Given the description of an element on the screen output the (x, y) to click on. 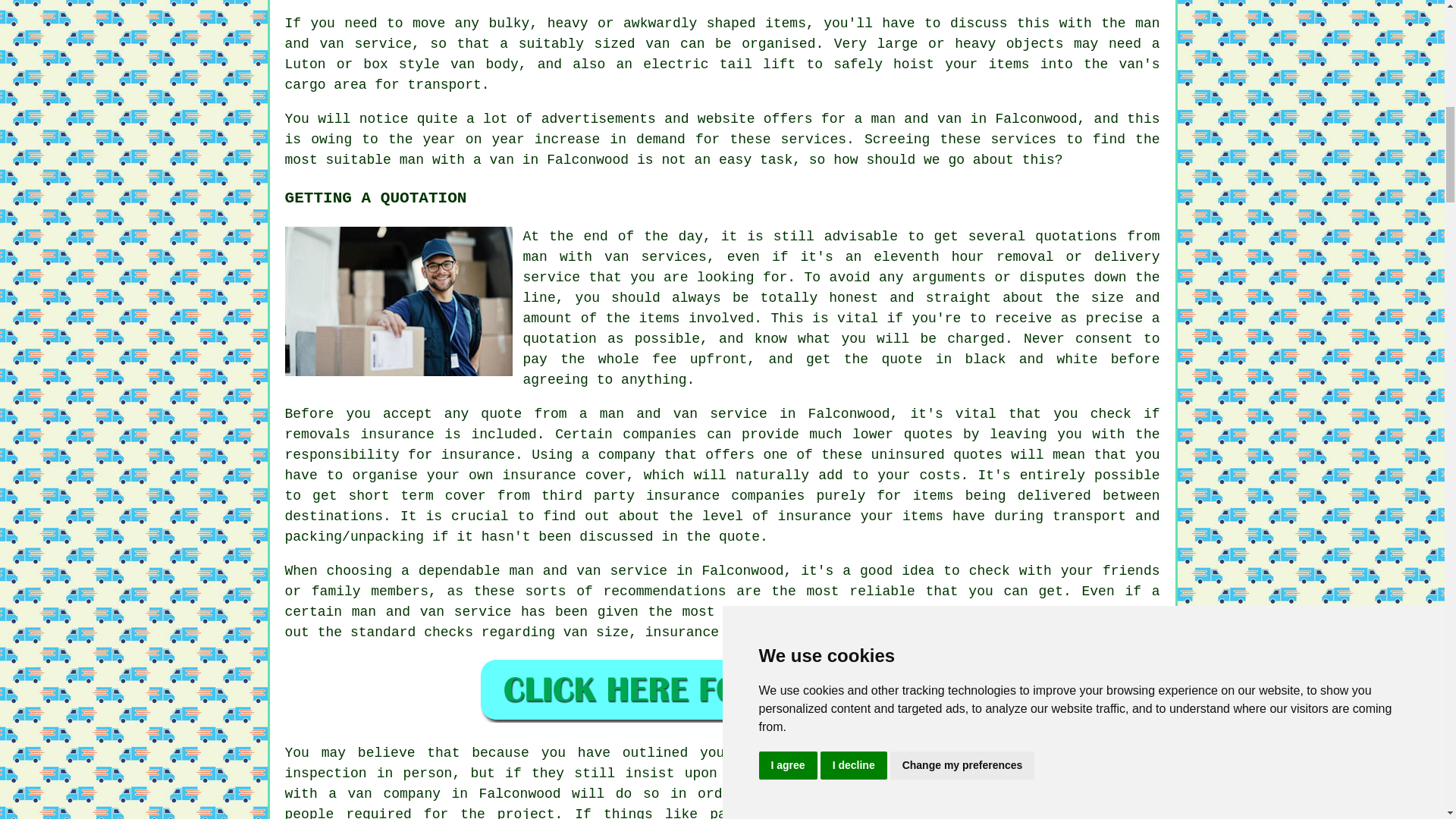
man with van (575, 256)
Get Quotes From Man With a Van Falconwood (722, 689)
Man and a Van Falconwood (398, 300)
